Given the description of an element on the screen output the (x, y) to click on. 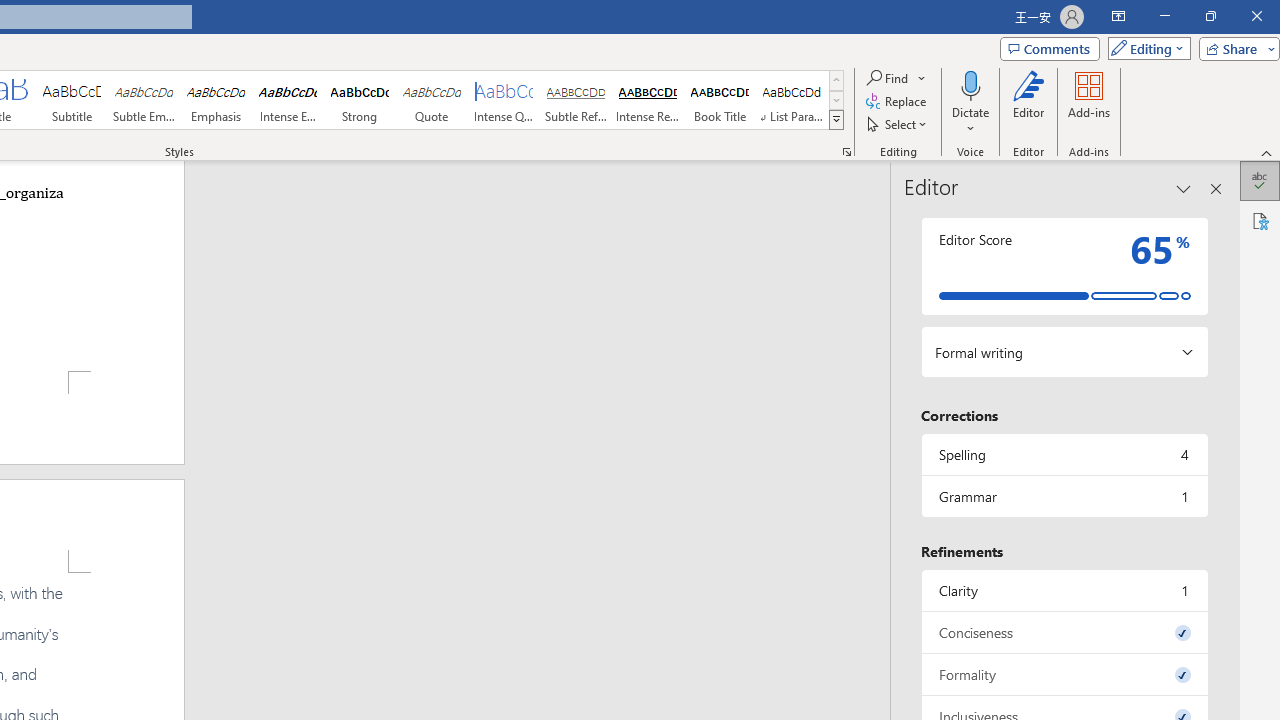
Subtle Emphasis (143, 100)
Intense Quote (504, 100)
Book Title (719, 100)
Spelling, 4 issues. Press space or enter to review items. (1064, 454)
Emphasis (216, 100)
